Given the description of an element on the screen output the (x, y) to click on. 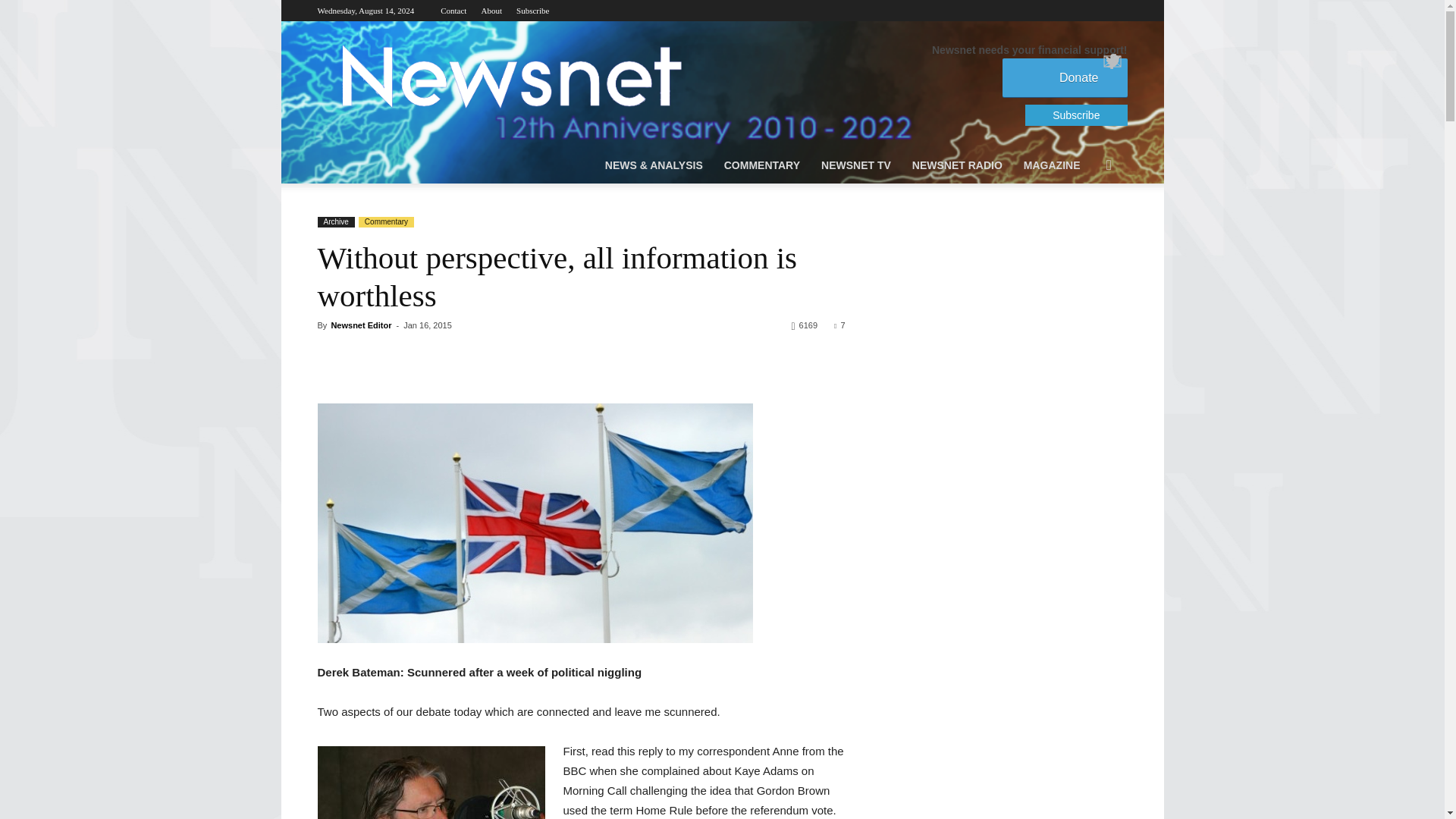
NEWSNET.scot (509, 76)
About (491, 10)
Commentary (385, 222)
Donate (1064, 77)
NEWSNET TV (855, 165)
Flags (534, 522)
Archive (335, 222)
MAGAZINE (1051, 165)
7 (839, 325)
Search (1086, 225)
